Given the description of an element on the screen output the (x, y) to click on. 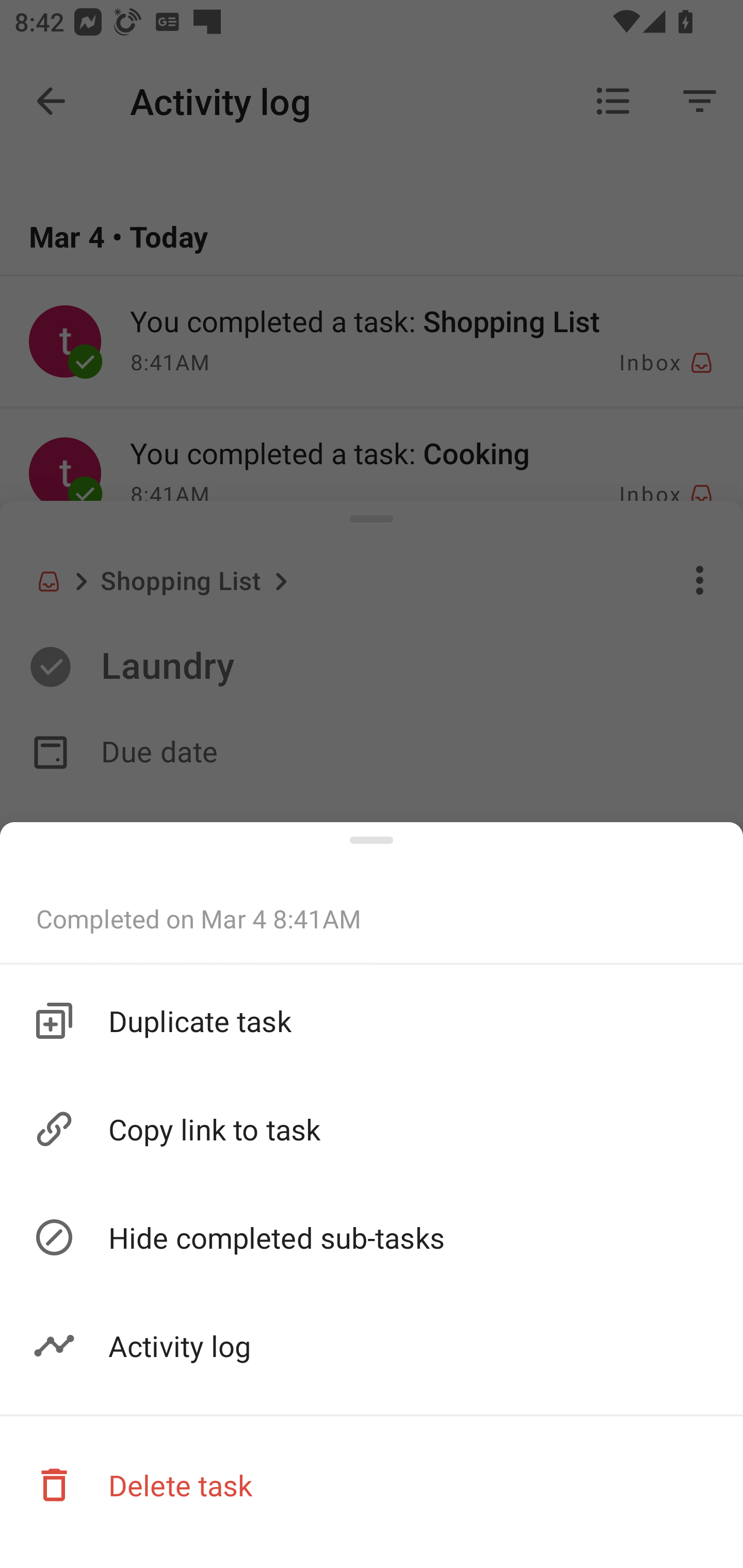
Duplicate task (371, 1020)
Copy link to task (371, 1129)
Hide completed sub-tasks (371, 1237)
Activity log (371, 1346)
Delete task (371, 1484)
